Given the description of an element on the screen output the (x, y) to click on. 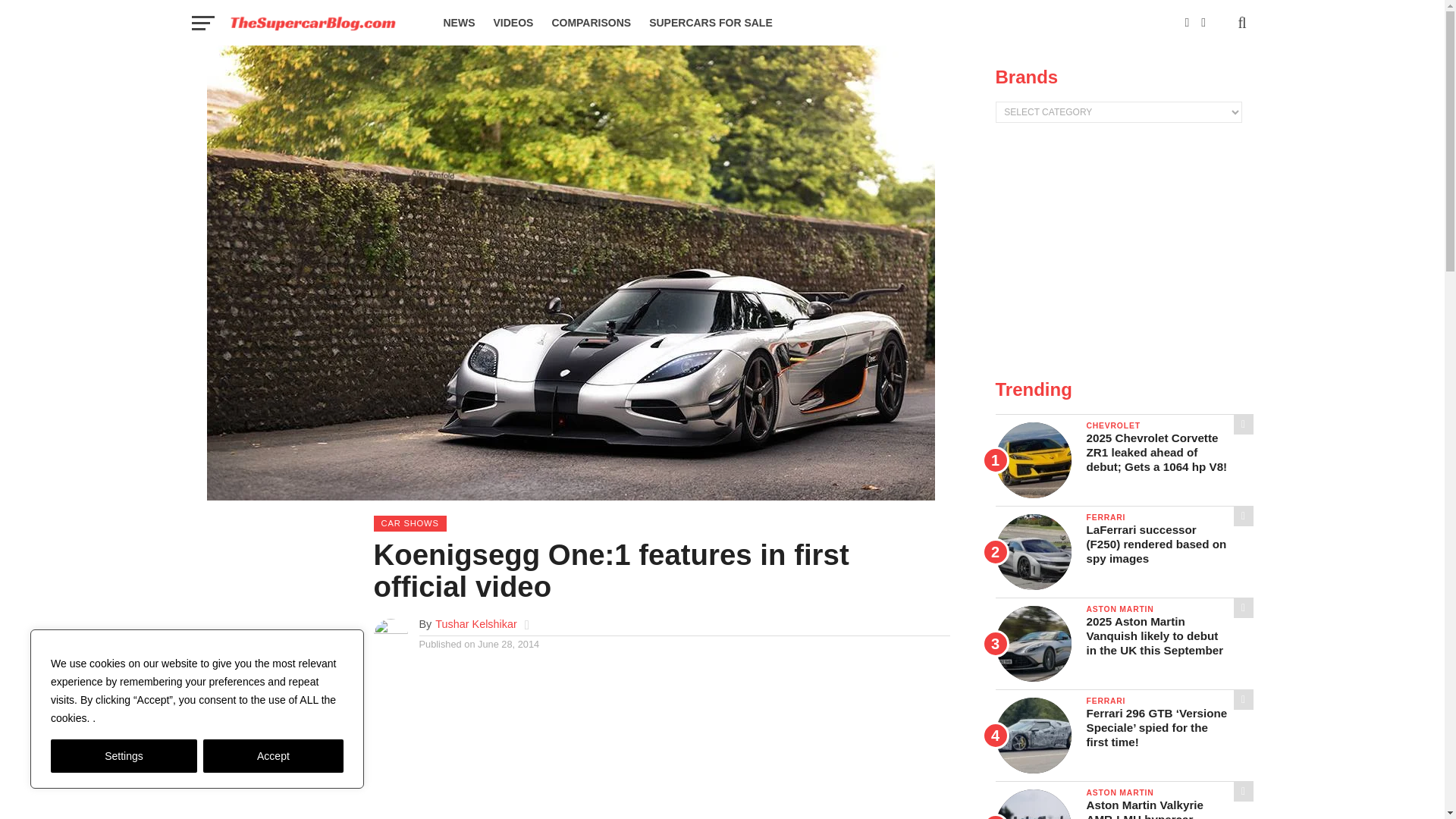
Posts by Tushar Kelshikar (475, 623)
Advertisement (660, 743)
Tushar Kelshikar (475, 623)
Settings (123, 756)
Advertisement (1123, 251)
NEWS (458, 22)
SUPERCARS FOR SALE (710, 22)
Accept (273, 756)
COMPARISONS (590, 22)
VIDEOS (512, 22)
